Given the description of an element on the screen output the (x, y) to click on. 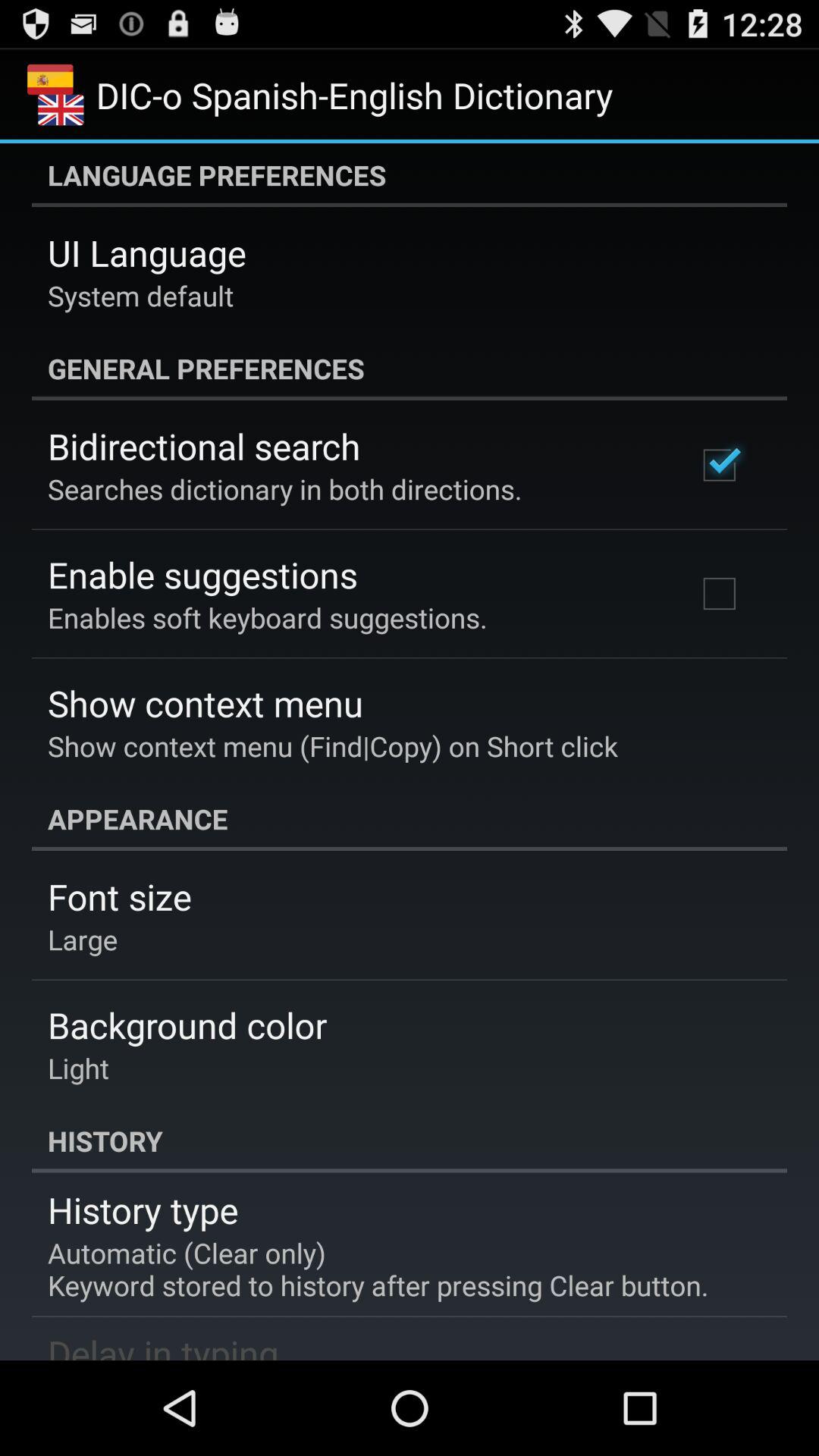
click the bidirectional search app (203, 446)
